Given the description of an element on the screen output the (x, y) to click on. 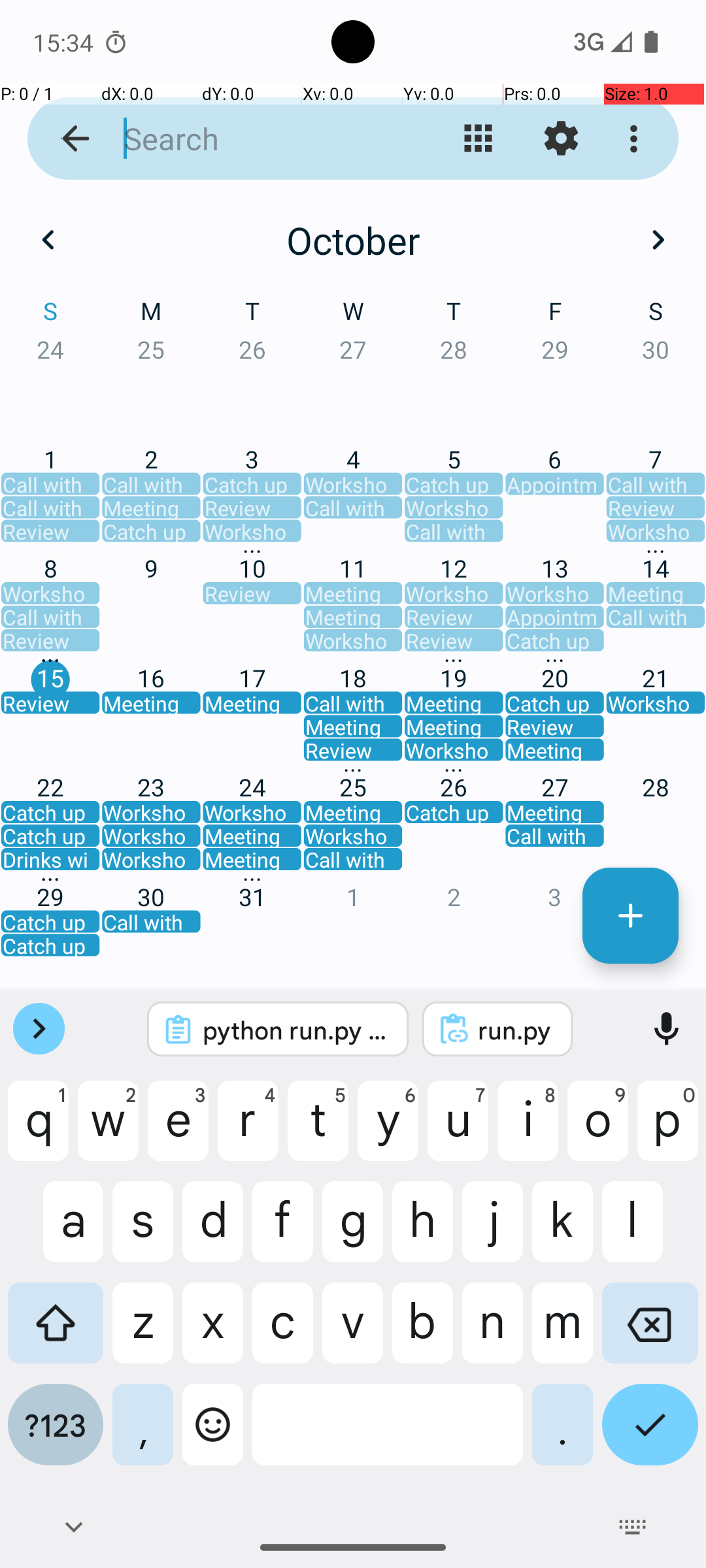
python run.py \   --suite_family=android_world \   --agent_name=t3a_gpt4 \   --perform_emulator_setup \   --tasks=ContactsAddContact,ClockStopWatchRunning \  # Optional: Just run on a subset. Element type: android.widget.TextView (294, 1029)
run.py Element type: android.widget.TextView (514, 1029)
